Given the description of an element on the screen output the (x, y) to click on. 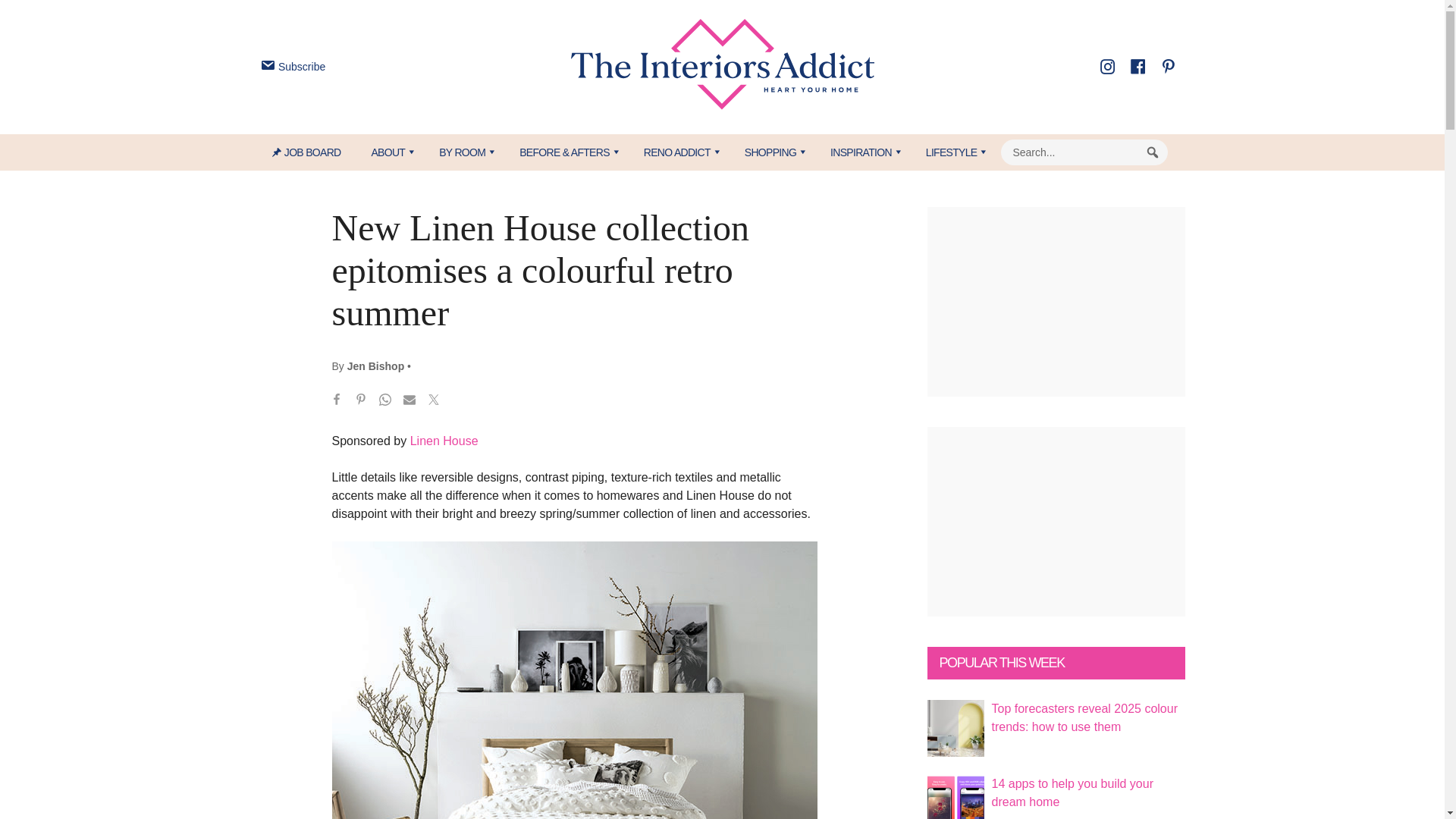
Subscribe (291, 66)
YES PLEASE! (793, 294)
Share via Email (409, 401)
ABOUT (389, 152)
Share on Pinterest (360, 401)
BY ROOM (463, 152)
Share on Facebook (336, 401)
Share on Twitter (433, 401)
JOB BOARD (313, 152)
Search (1152, 151)
